Given the description of an element on the screen output the (x, y) to click on. 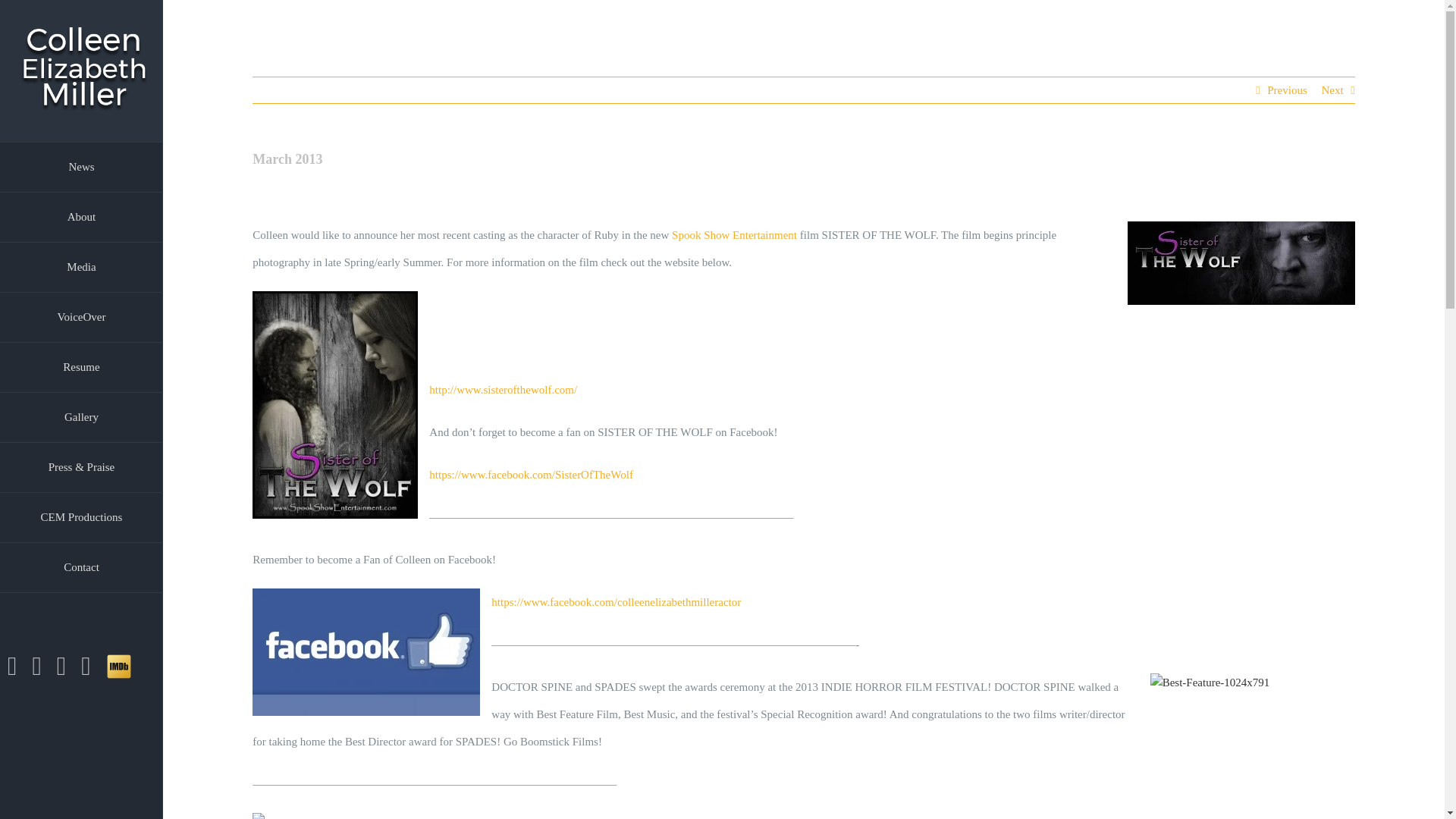
Media (81, 267)
Previous (1286, 89)
Resume (81, 368)
Contact (81, 567)
About (81, 217)
News (81, 166)
Spook Show Entertainment (733, 234)
Gallery (81, 418)
IMDb (119, 666)
VoiceOver (81, 317)
